Given the description of an element on the screen output the (x, y) to click on. 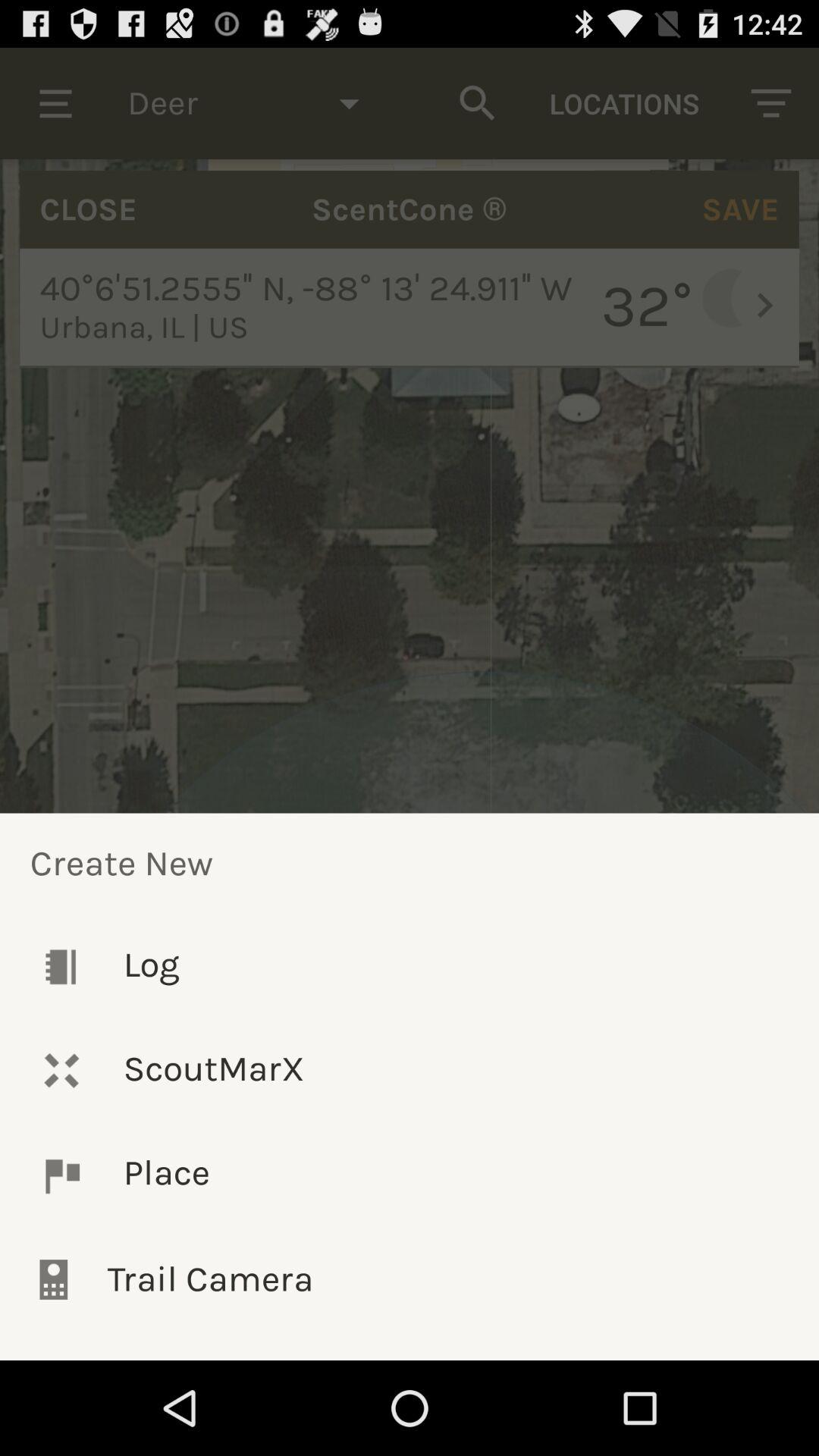
press the icon below log (409, 1070)
